Given the description of an element on the screen output the (x, y) to click on. 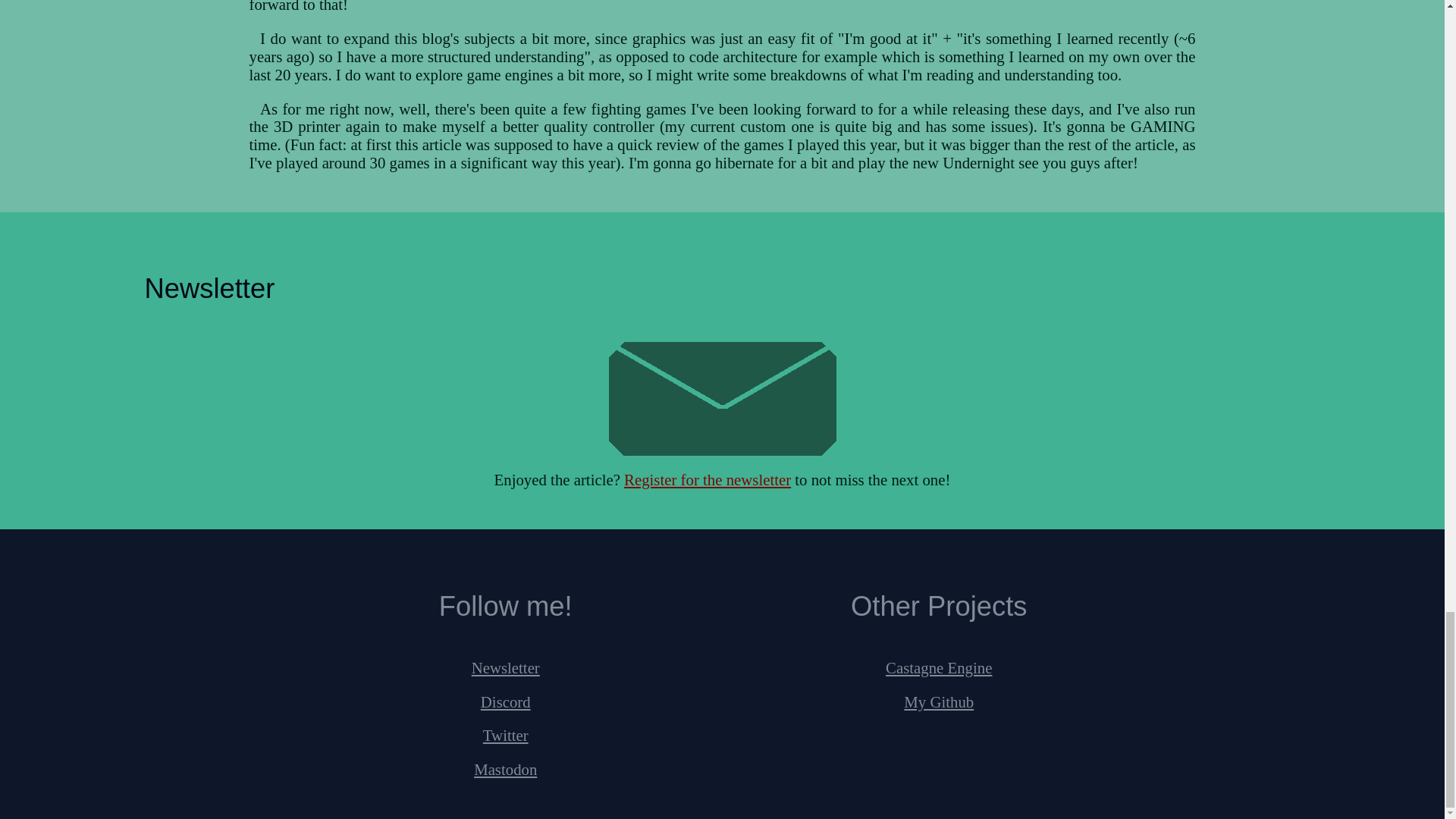
Register for the newsletter (707, 479)
My Github (939, 701)
Twitter (505, 734)
Newsletter (505, 667)
Mastodon (505, 769)
Discord (505, 701)
Castagne Engine (938, 667)
